Given the description of an element on the screen output the (x, y) to click on. 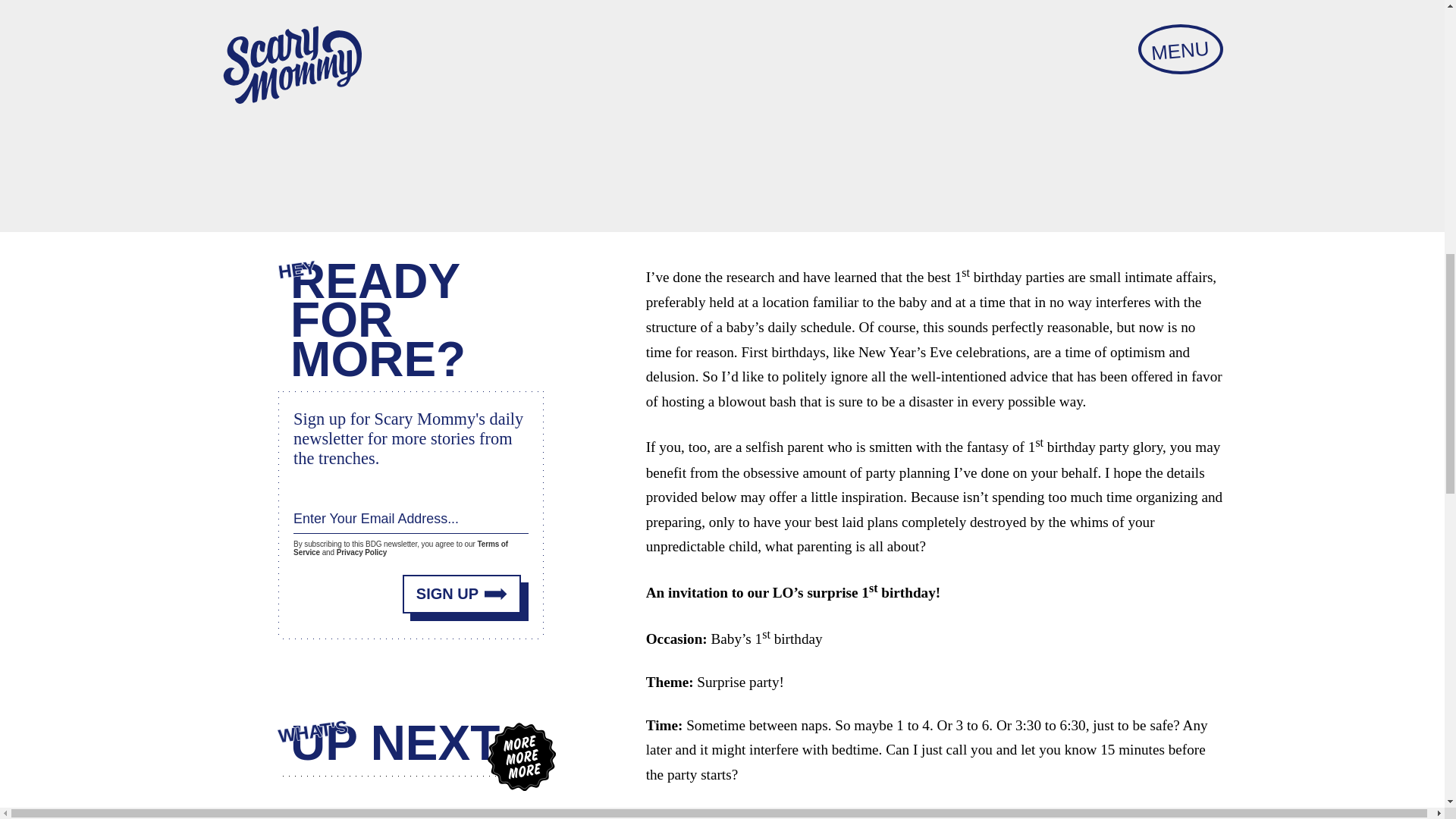
SIGN UP (462, 589)
Terms of Service (401, 545)
Privacy Policy (361, 551)
